Given the description of an element on the screen output the (x, y) to click on. 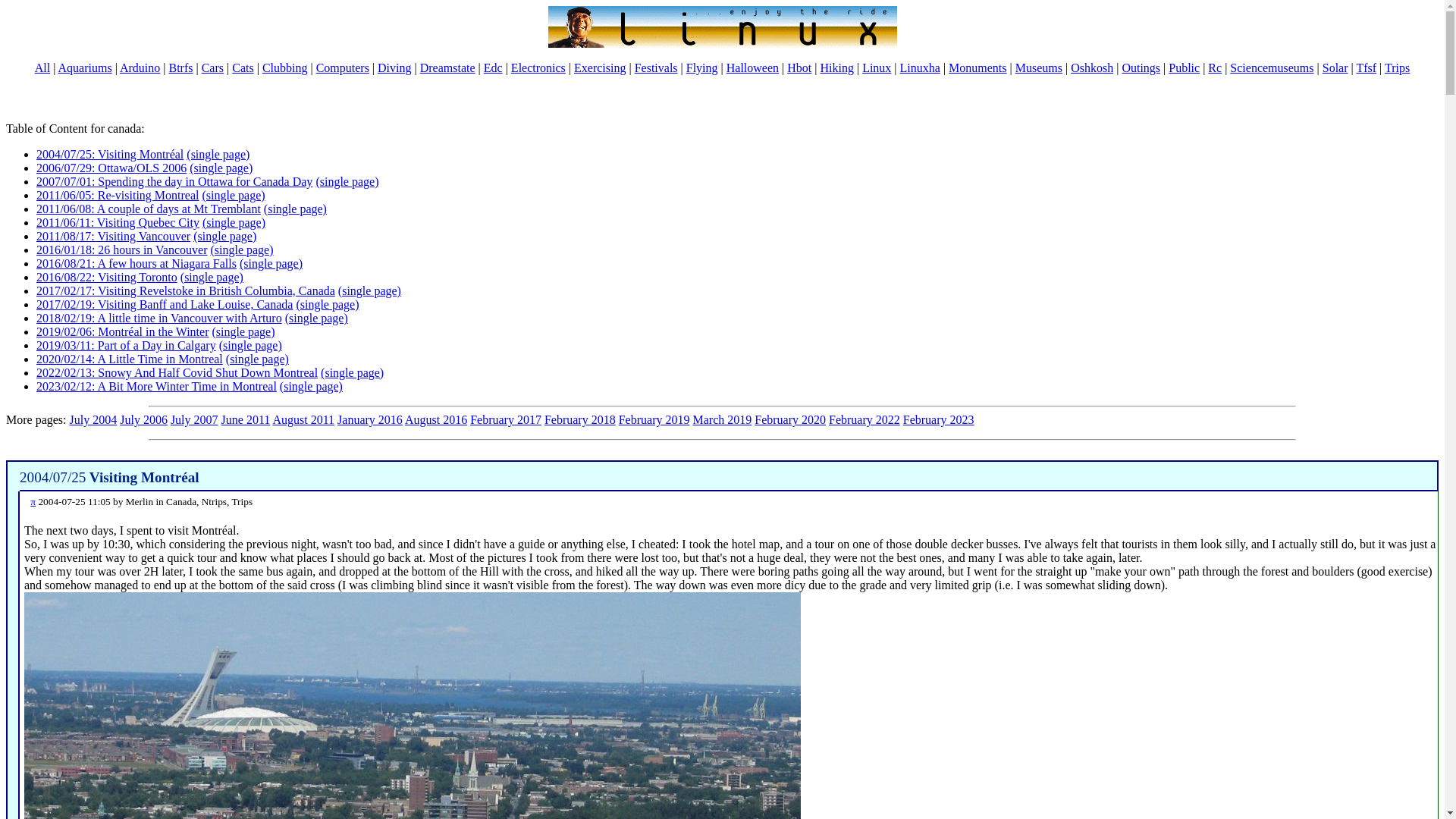
Cars (213, 67)
Cats (242, 67)
Oshkosh (1091, 67)
Halloween (752, 67)
Edc (492, 67)
Sciencemuseums (1271, 67)
Aquariums (85, 67)
Public (1184, 67)
All (41, 67)
Electronics (538, 67)
